Given the description of an element on the screen output the (x, y) to click on. 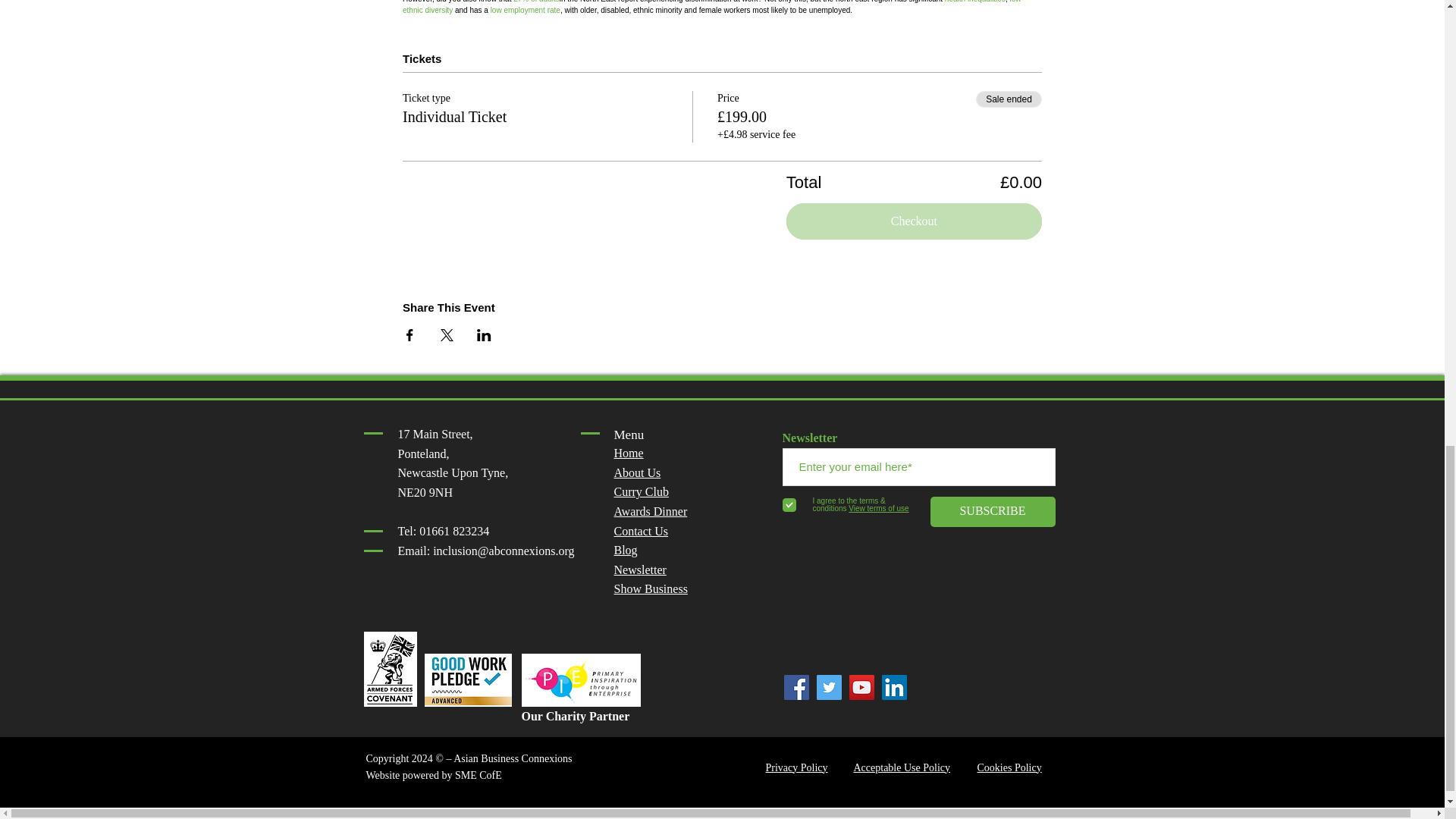
Curry Club (641, 491)
low ethnic diversity (712, 7)
Home (628, 452)
low employment rate (525, 9)
About Us (637, 472)
Newsletter (640, 569)
Blog (625, 549)
Awards Dinner (650, 511)
Contact Us (641, 530)
health inequalities (975, 1)
